Given the description of an element on the screen output the (x, y) to click on. 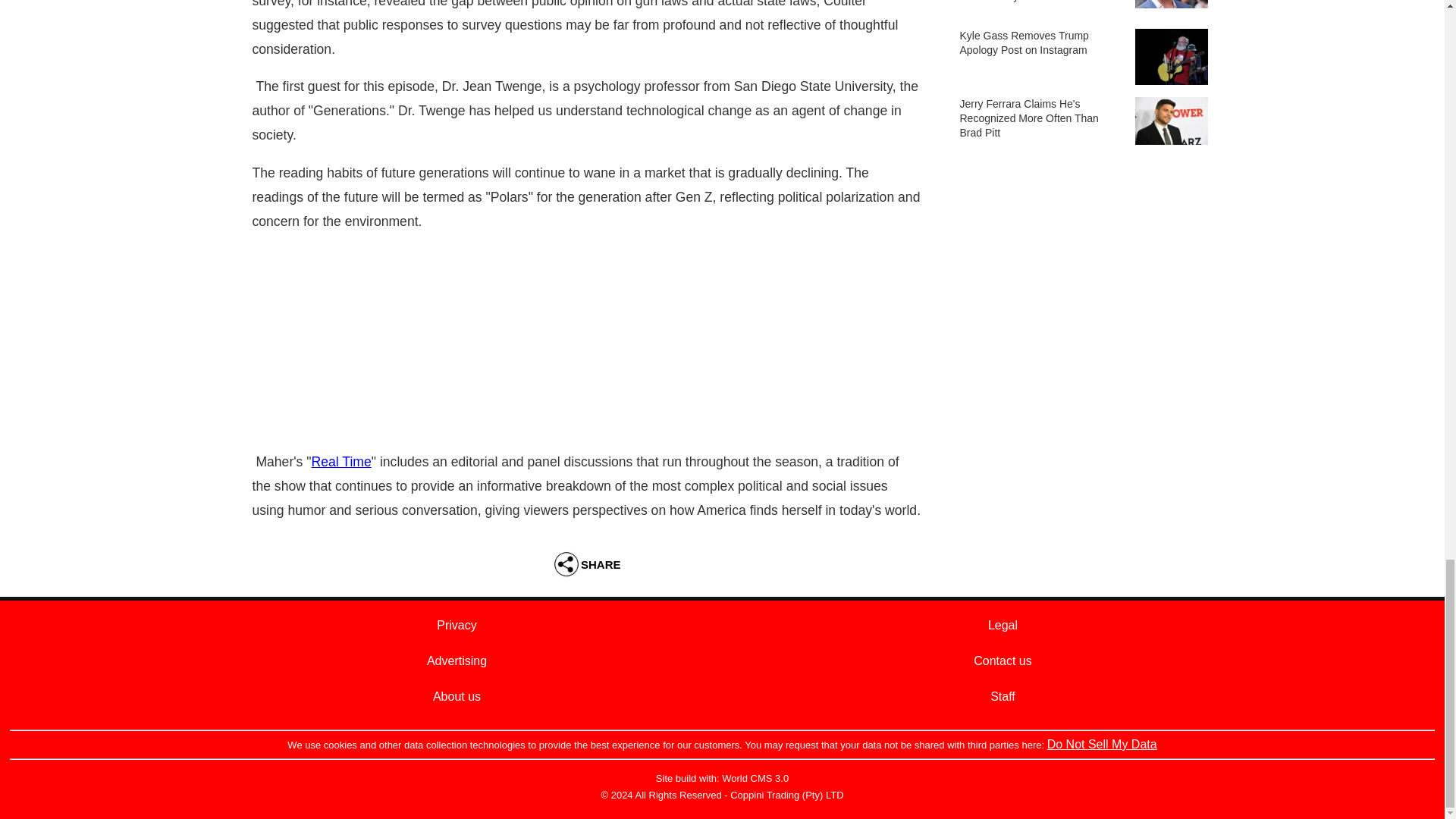
Real Time (341, 461)
